Given the description of an element on the screen output the (x, y) to click on. 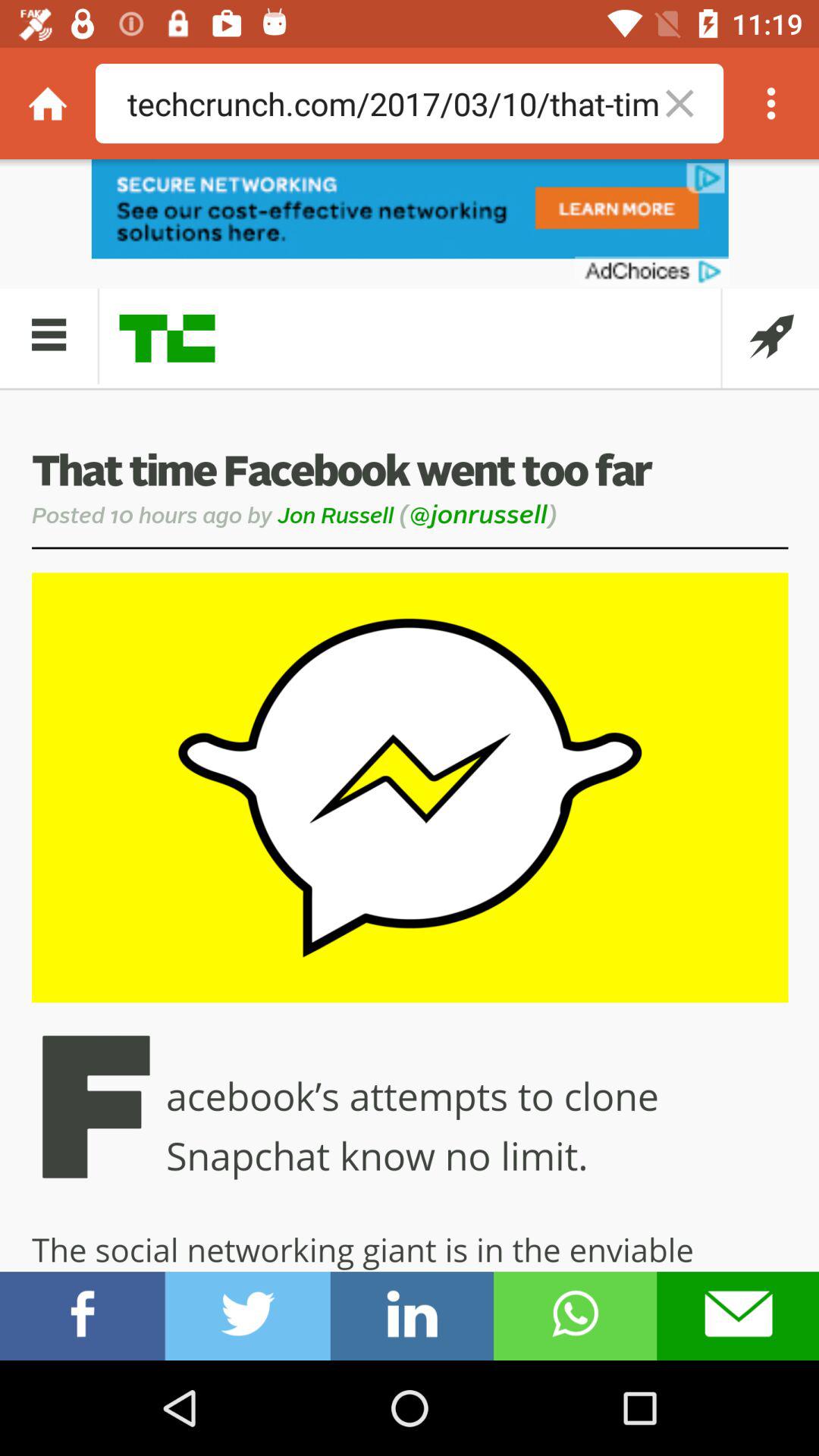
go home menu (47, 103)
